Given the description of an element on the screen output the (x, y) to click on. 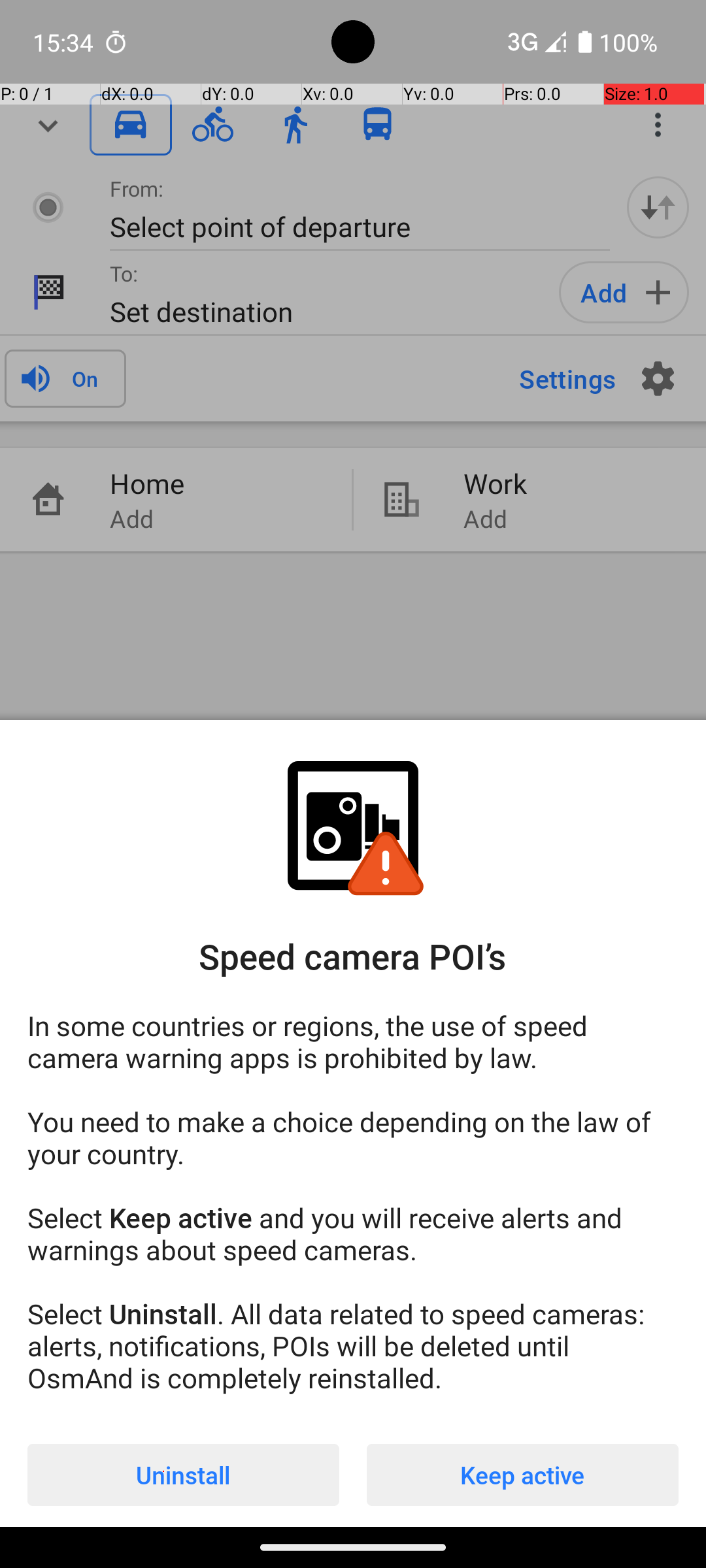
Close the dialog Element type: android.view.View (353, 388)
